Given the description of an element on the screen output the (x, y) to click on. 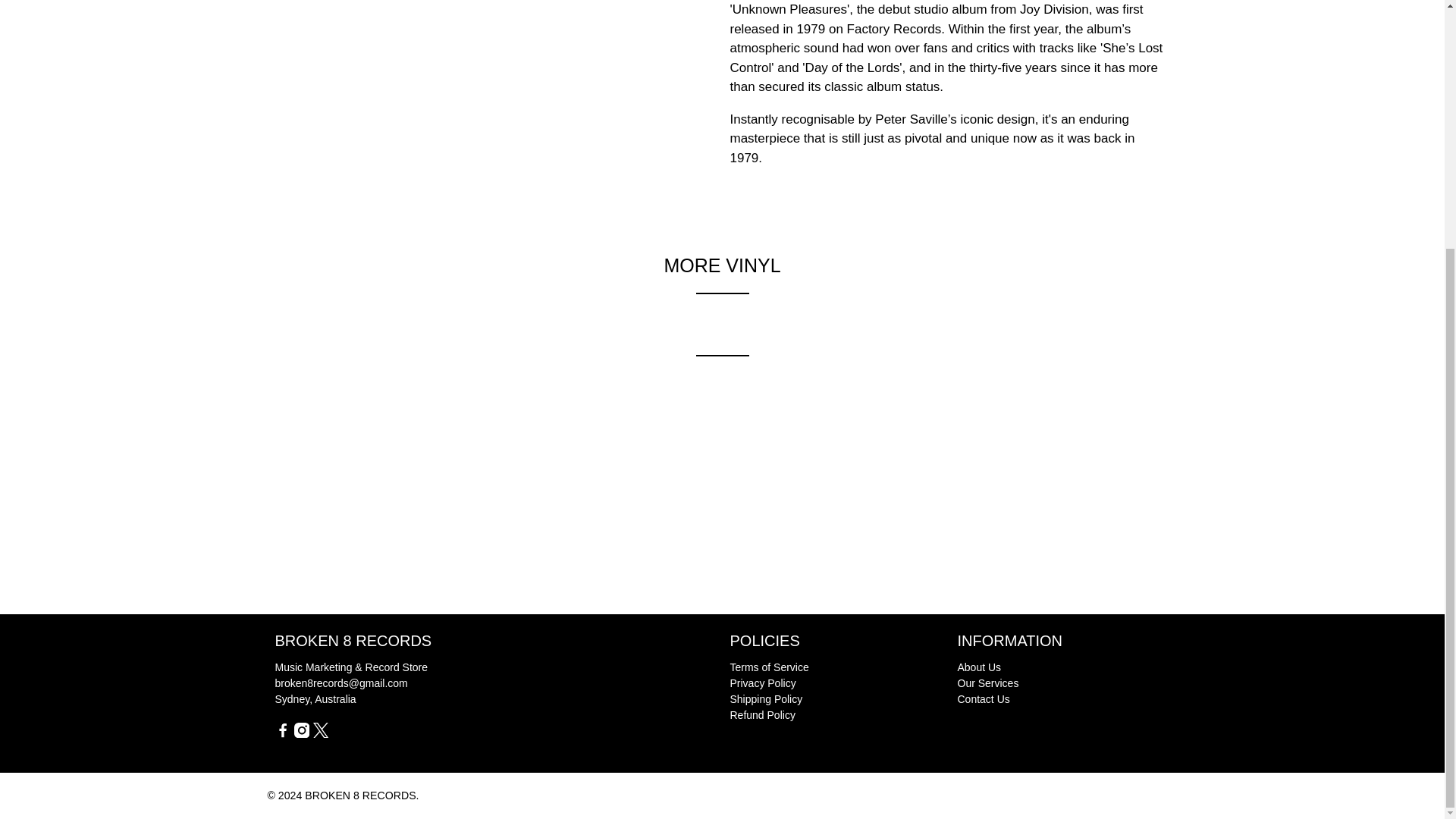
Our Services (986, 683)
Contact Us (982, 698)
About Us (978, 666)
BROKEN 8 RECORDS on Facebook (282, 734)
Privacy Policy (761, 683)
Shipping Policy (765, 698)
Terms of Service (768, 666)
BROKEN 8 RECORDS on X (321, 734)
BROKEN 8 RECORDS on Instagram (301, 734)
Refund Policy (761, 715)
